Given the description of an element on the screen output the (x, y) to click on. 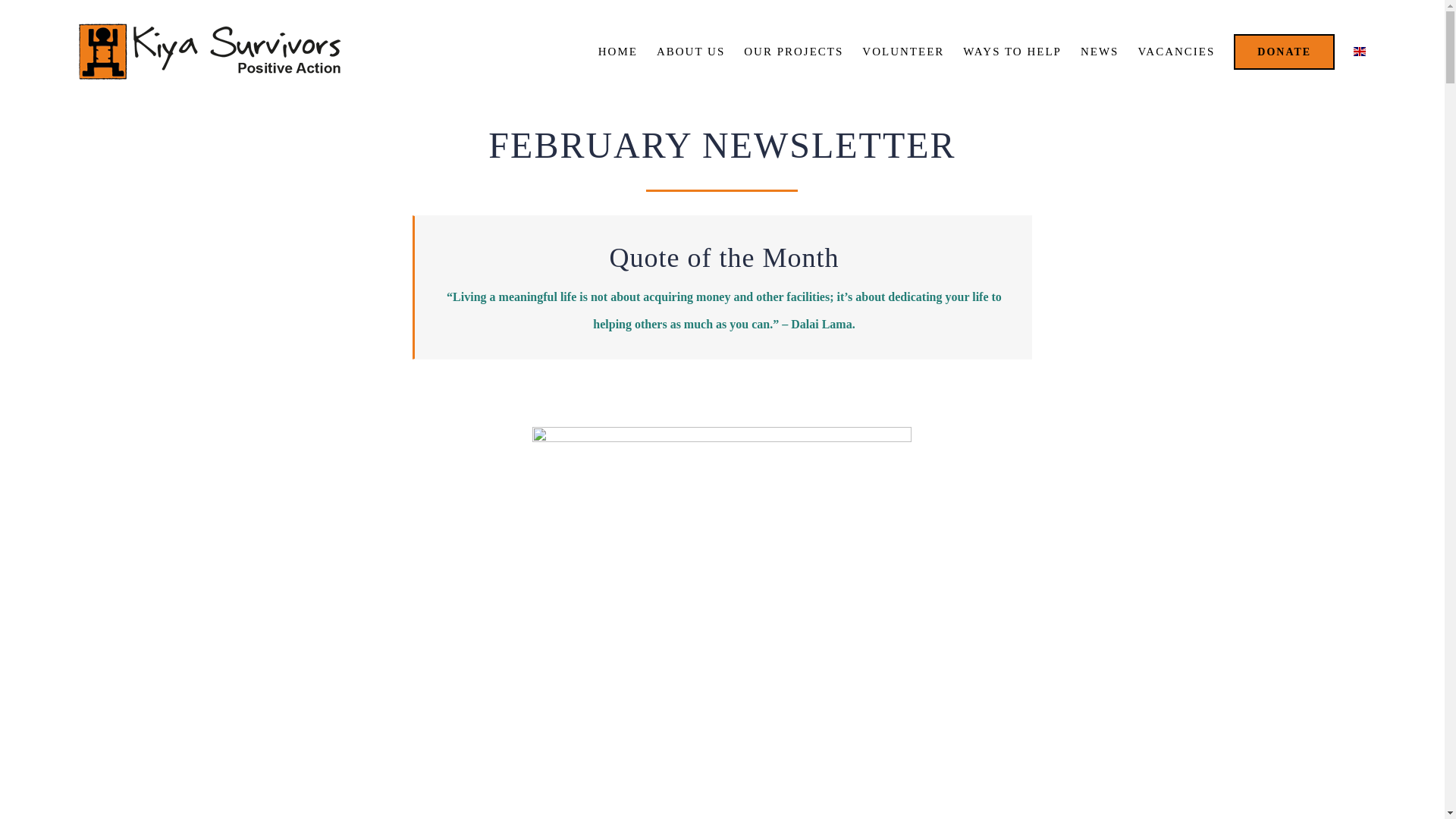
OUR PROJECTS (793, 51)
DONATE (1284, 51)
WAYS TO HELP (1011, 51)
